Given the description of an element on the screen output the (x, y) to click on. 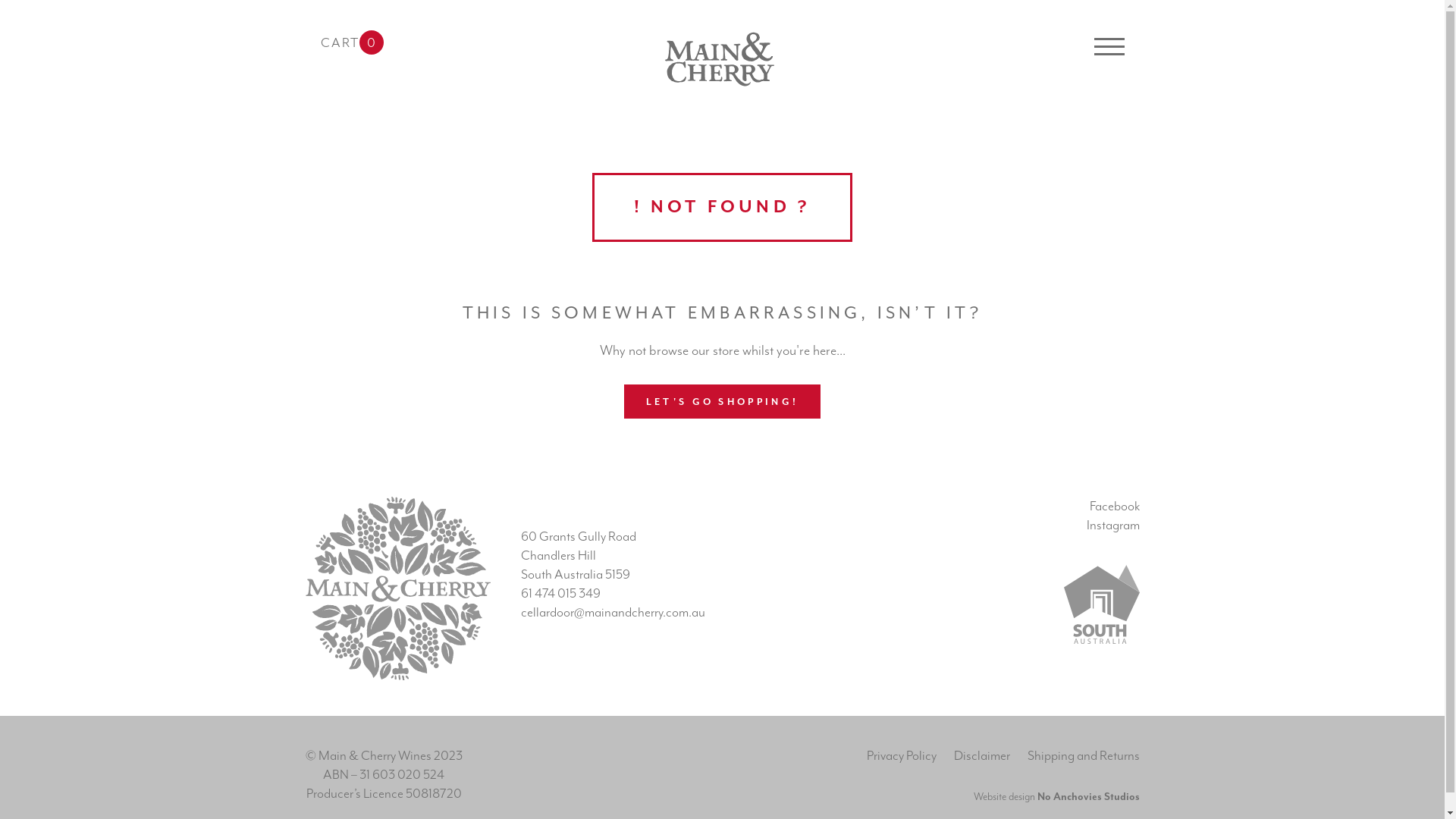
No Anchovies Studios Element type: text (1088, 796)
0 Element type: text (371, 42)
Disclaimer Element type: text (981, 755)
Privacy Policy Element type: text (900, 755)
Facebook Element type: text (1113, 505)
Instagram Element type: text (1112, 524)
LET'S GO SHOPPING! Element type: text (722, 401)
cellardoor@mainandcherry.com.au Element type: text (612, 611)
Shipping and Returns Element type: text (1082, 755)
61 474 015 349 Element type: text (560, 592)
